Given the description of an element on the screen output the (x, y) to click on. 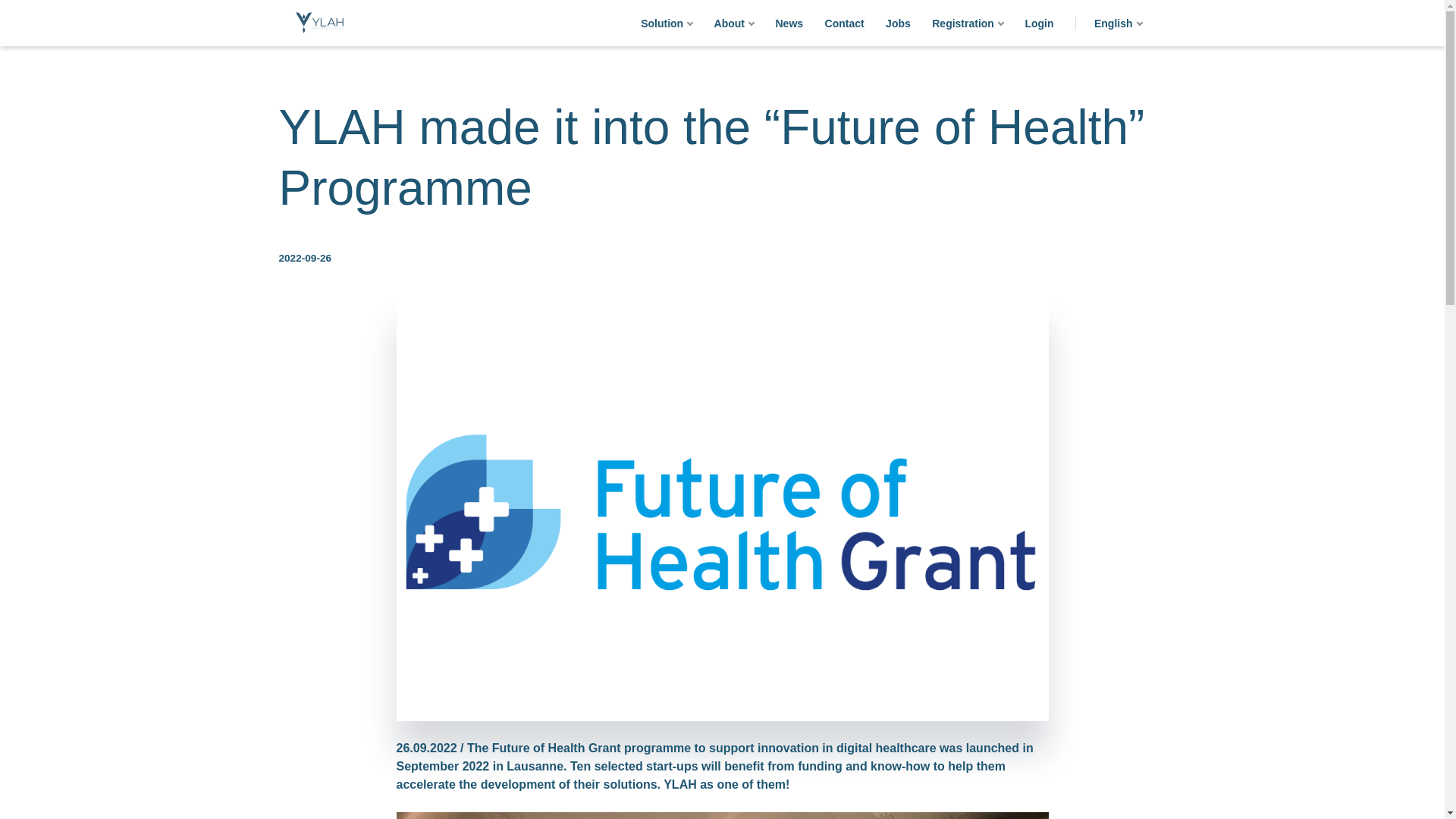
Jobs (898, 22)
Contact (844, 22)
News (788, 22)
English (1117, 22)
Login (1038, 22)
Solution (666, 22)
Registration (967, 22)
About (733, 22)
